Given the description of an element on the screen output the (x, y) to click on. 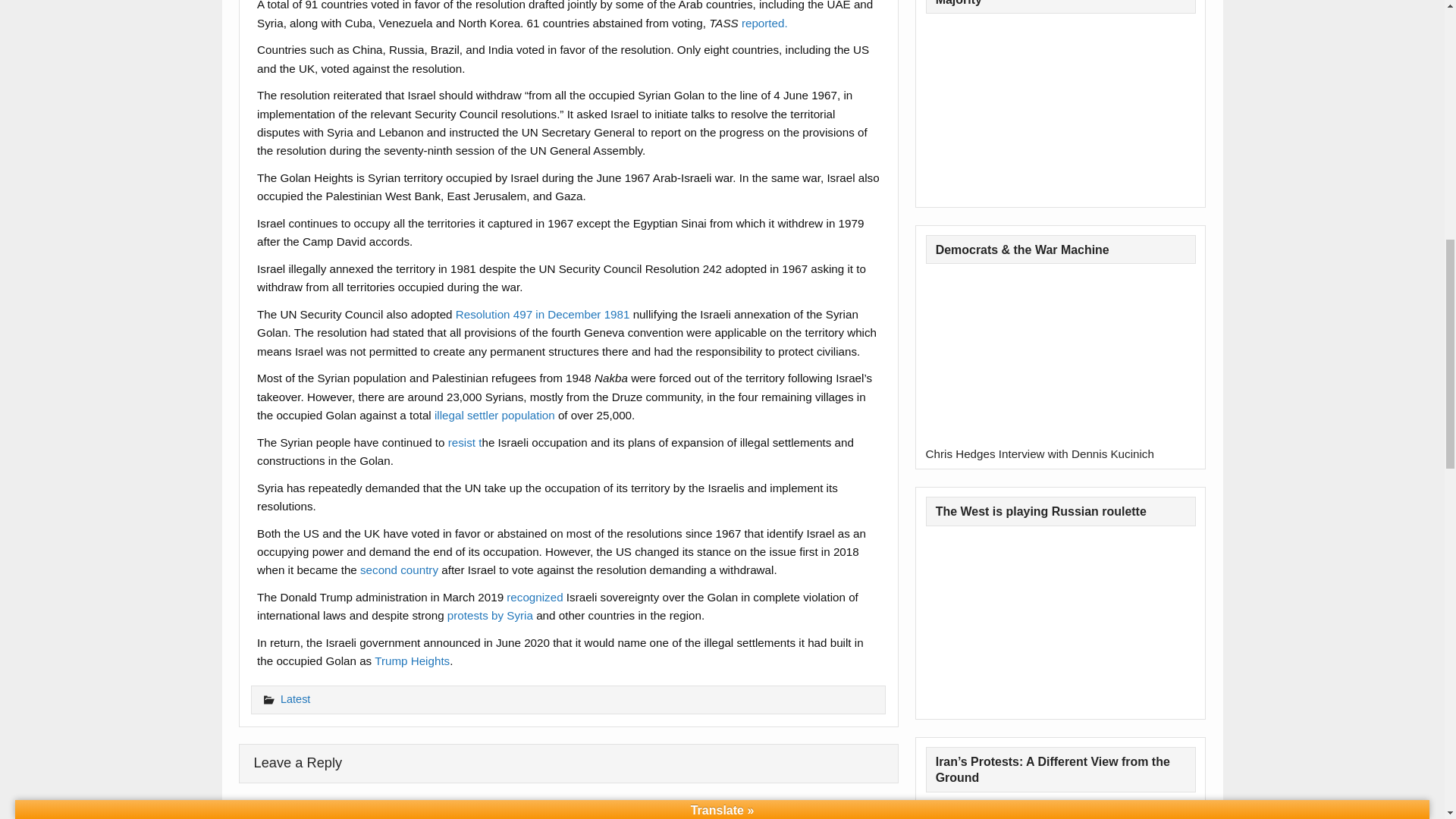
resist t (464, 441)
Trump Heights (411, 660)
illegal settler population (493, 414)
protests by Syria (489, 615)
Latest (295, 698)
second country (398, 569)
Resolution 497 in December 1981 (544, 314)
recognized (534, 596)
reported.  (765, 22)
